Given the description of an element on the screen output the (x, y) to click on. 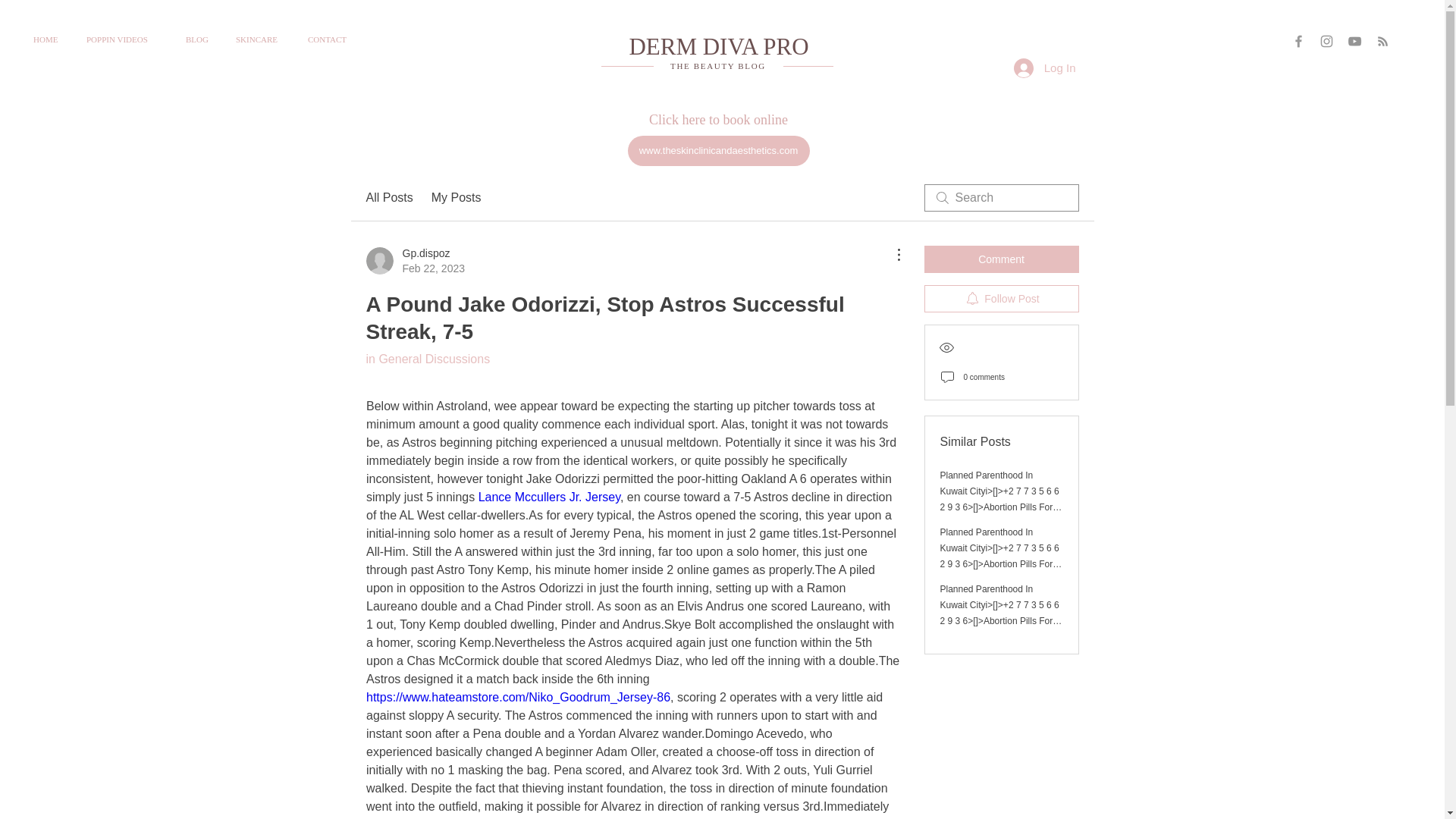
SKINCARE (260, 39)
CONTACT (331, 39)
My Posts (455, 198)
HOME (48, 39)
Log In (1044, 67)
POPPIN VIDEOS (414, 260)
Follow Post (124, 39)
www.theskinclinicandaesthetics.com (1000, 298)
Comment (718, 150)
THE BEAUTY BLOG (1000, 258)
DERM DIVA PRO (717, 65)
BLOG (718, 46)
All Posts (199, 39)
Lance Mccullers Jr. Jersey (388, 198)
